Given the description of an element on the screen output the (x, y) to click on. 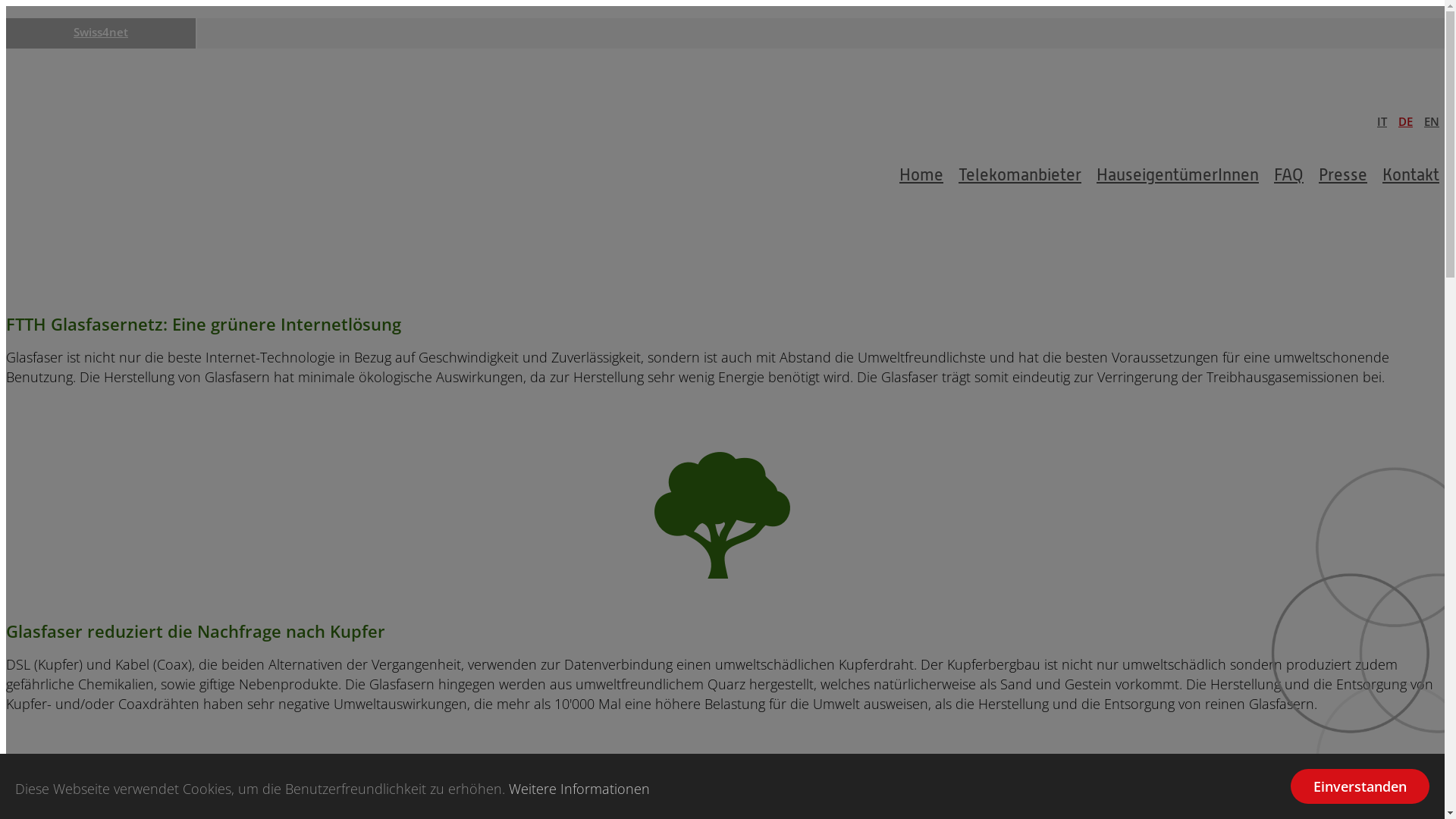
Home Element type: text (921, 175)
Presse Element type: text (1342, 175)
Einverstanden Element type: text (1359, 785)
Swiss4net Element type: text (100, 32)
FAQ Element type: text (1288, 175)
Kontakt Element type: text (1410, 175)
Weitere Informationen Element type: text (578, 788)
DE Element type: text (1405, 120)
IT Element type: text (1381, 120)
EN Element type: text (1431, 120)
Telekomanbieter Element type: text (1019, 175)
